Given the description of an element on the screen output the (x, y) to click on. 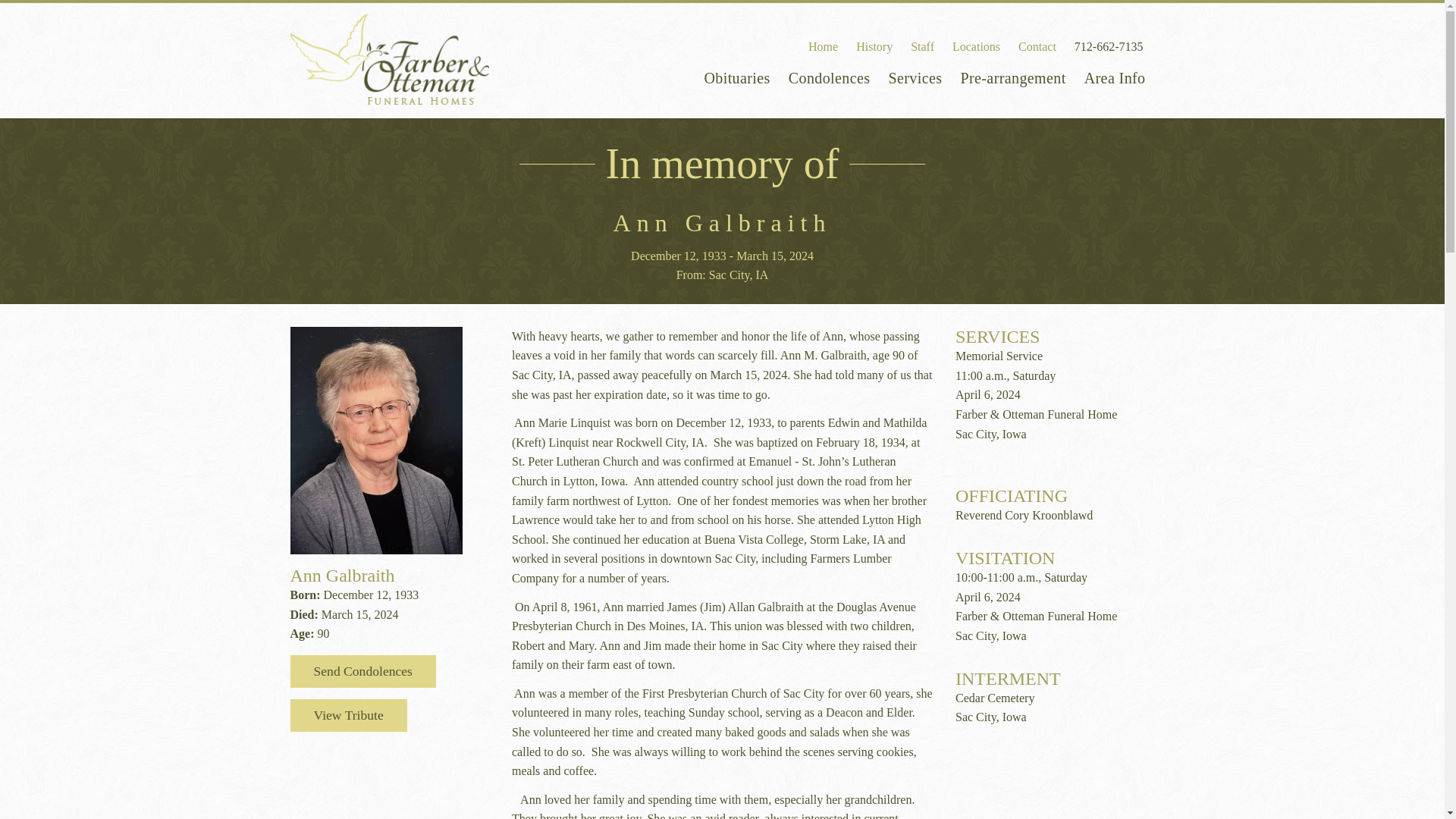
Obituaries (736, 76)
Contact (1037, 46)
712-662-7135 (1108, 46)
View Tribute (347, 715)
Home (823, 46)
Send Condolences (362, 671)
Services (914, 76)
Staff (922, 46)
Pre-arrangement (1012, 76)
Area Info (1114, 76)
History (874, 46)
Locations (976, 46)
Condolences (828, 76)
